Given the description of an element on the screen output the (x, y) to click on. 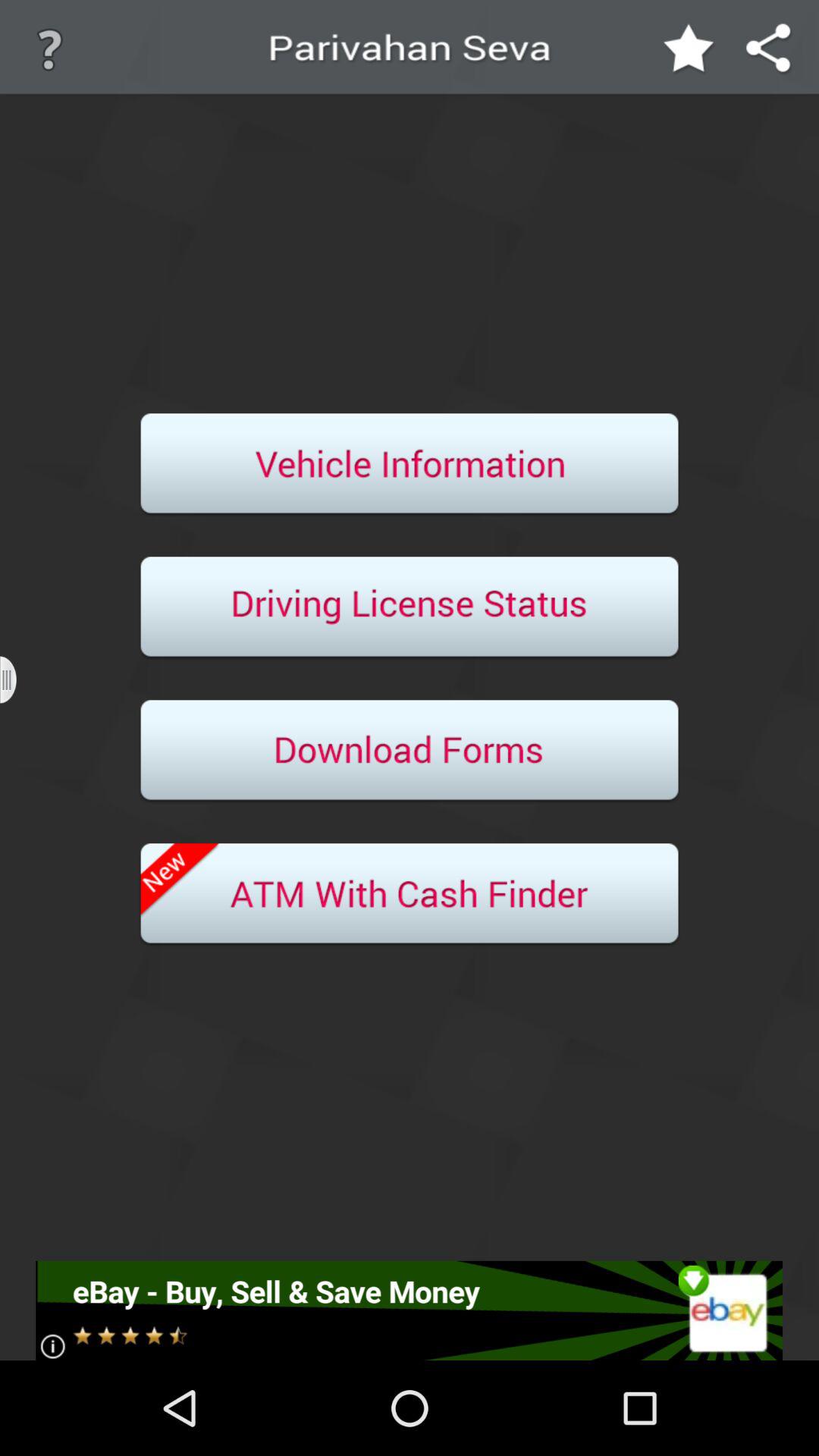
advertisement (408, 1310)
